Given the description of an element on the screen output the (x, y) to click on. 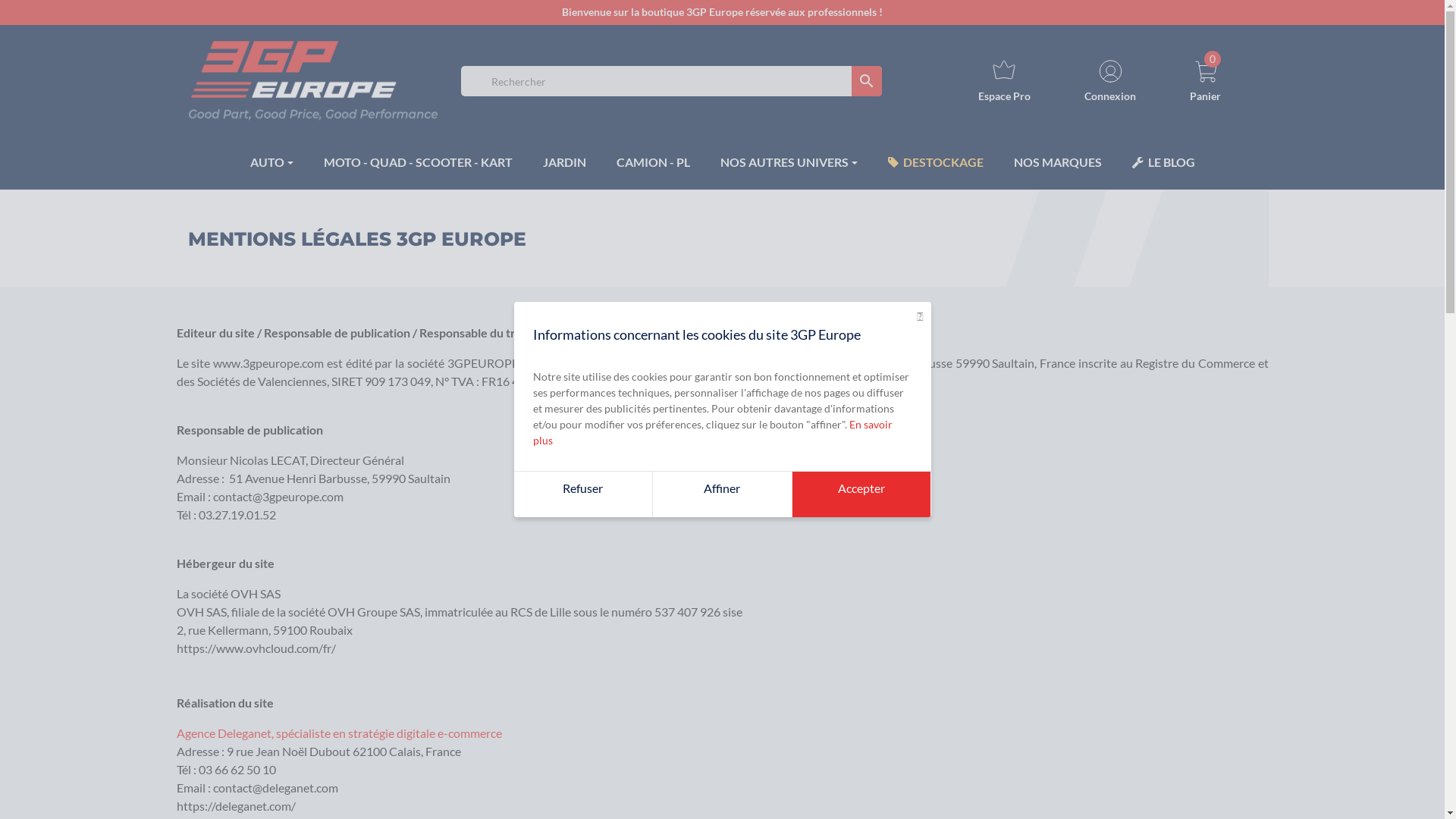
Refuser Element type: text (583, 494)
AUTO Element type: text (271, 162)
Espace Pro Element type: text (1004, 80)
MOTO - QUAD - SCOOTER - KART Element type: text (417, 162)
Affiner Element type: text (721, 494)
LE BLOG Element type: text (1162, 162)
NOS AUTRES UNIVERS Element type: text (788, 162)
Accepter Element type: text (860, 494)
CAMION - PL Element type: text (652, 162)
NOS MARQUES Element type: text (1056, 162)
DESTOCKAGE Element type: text (934, 162)
Connexion Element type: text (1109, 80)
En savoir plus Element type: text (711, 431)
JARDIN Element type: text (564, 162)
